Given the description of an element on the screen output the (x, y) to click on. 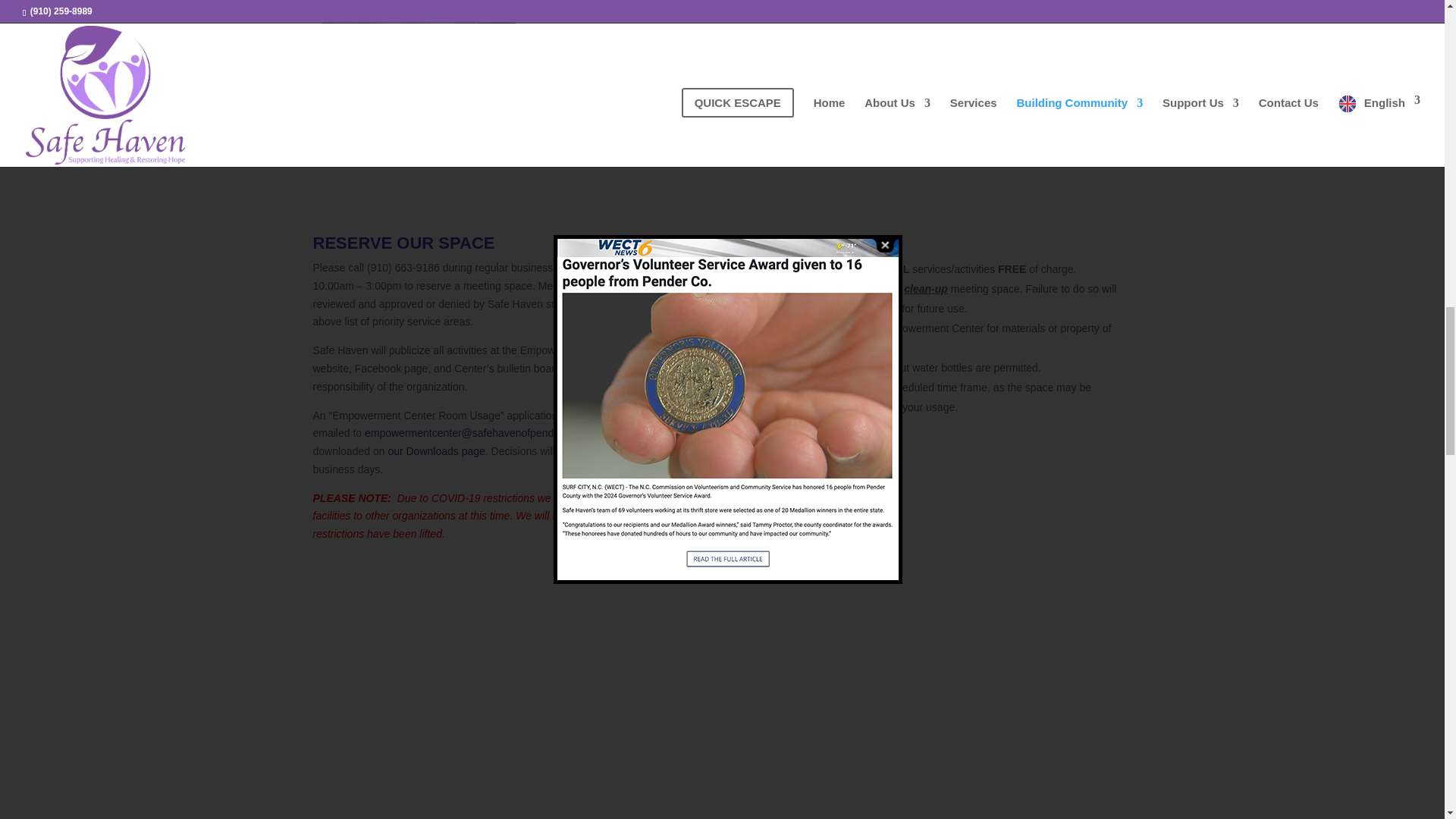
empowerment-center-room-3 (1026, 4)
empowerment-center-den (418, 4)
empowerment-center-room-2 (823, 4)
empowerment-center-bedroom (620, 4)
empowerment-center-upstairs-bedroom (418, 148)
